Given the description of an element on the screen output the (x, y) to click on. 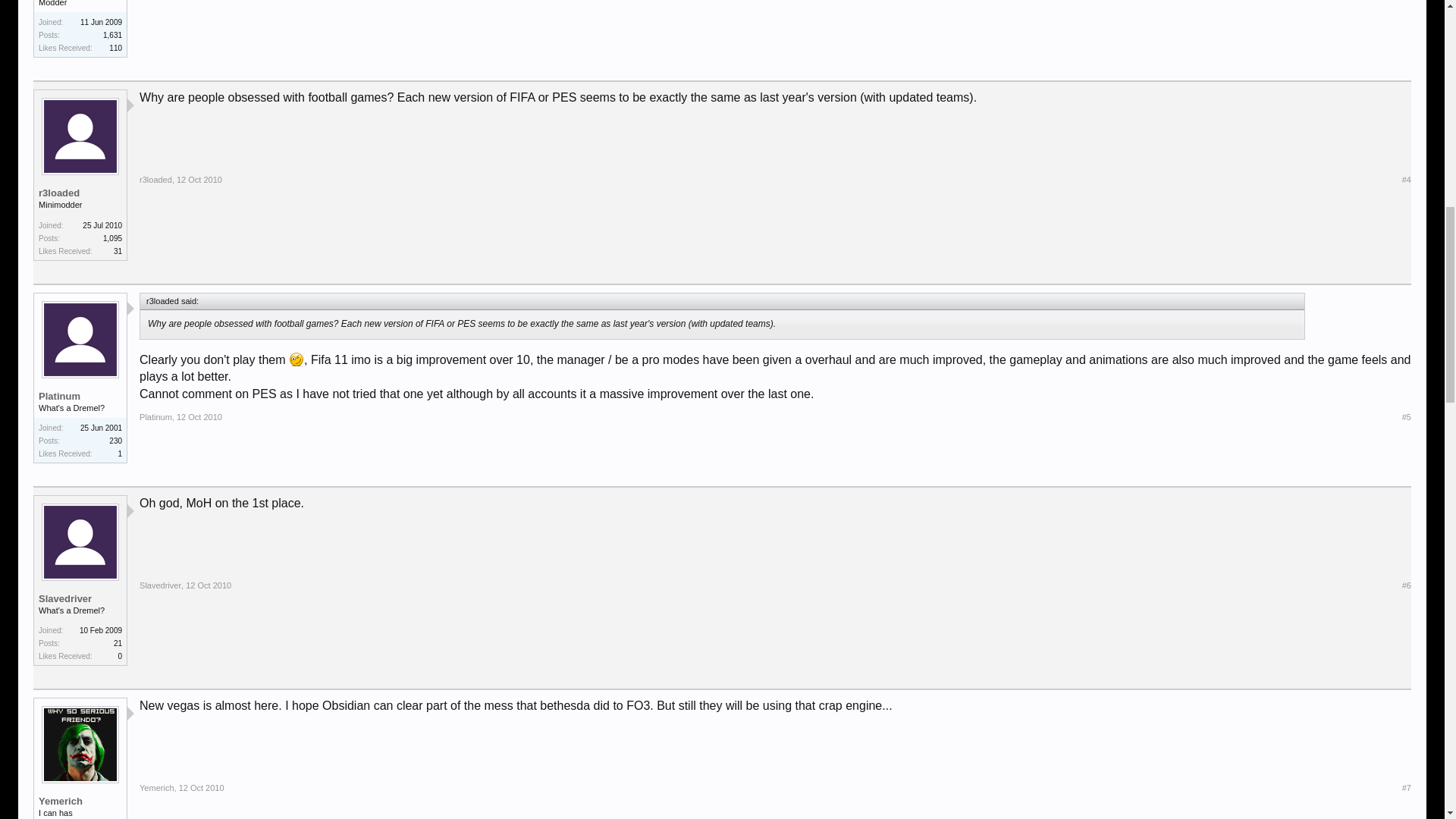
Permalink (199, 179)
r3loaded (155, 179)
Platinum (155, 416)
12 Oct 2010 (199, 179)
r3loaded (80, 193)
Permalink (199, 416)
230 (115, 440)
Platinum (80, 396)
1,095 (112, 238)
Permalink (1406, 179)
1,631 (112, 35)
Permalink (1406, 416)
Permalink (208, 584)
